Given the description of an element on the screen output the (x, y) to click on. 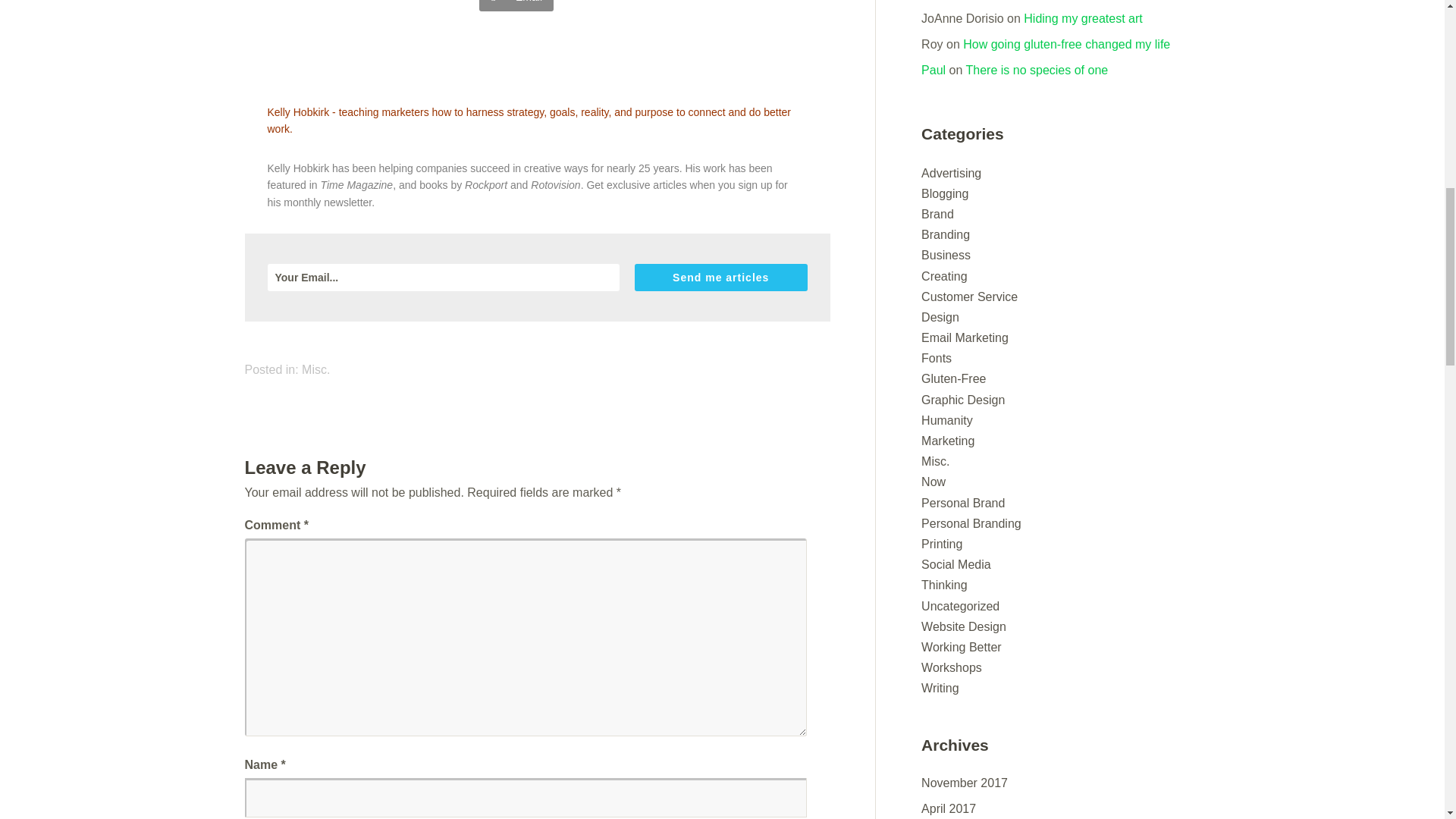
How going gluten-free changed my life (1066, 43)
Email (516, 5)
Misc. (315, 369)
Send me articles (721, 277)
Hiding my greatest art (1082, 18)
